Given the description of an element on the screen output the (x, y) to click on. 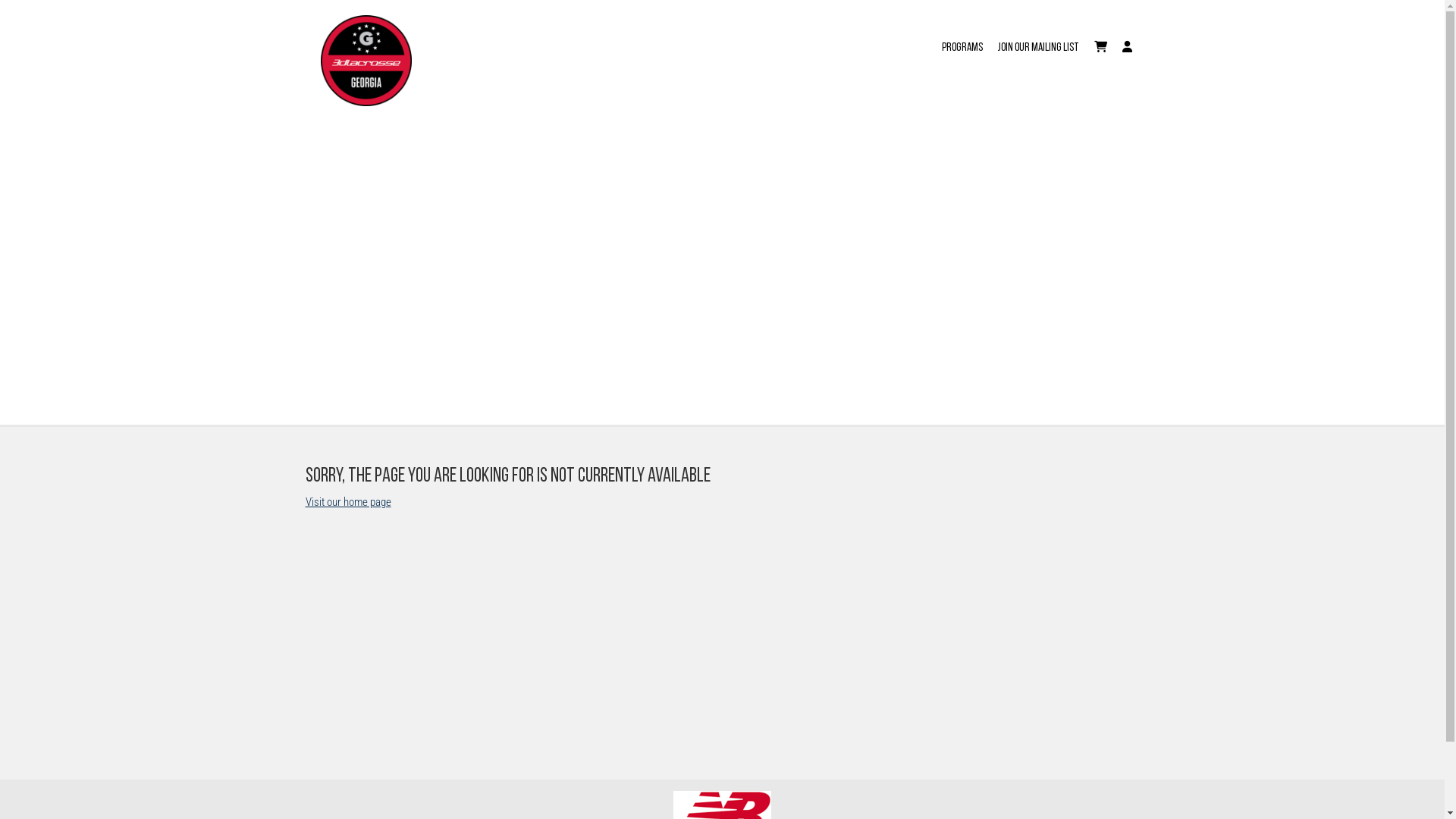
Visit our home page Element type: text (347, 501)
Programs Element type: text (962, 38)
JOIN OUR MAILING LIST Element type: text (1038, 38)
